Given the description of an element on the screen output the (x, y) to click on. 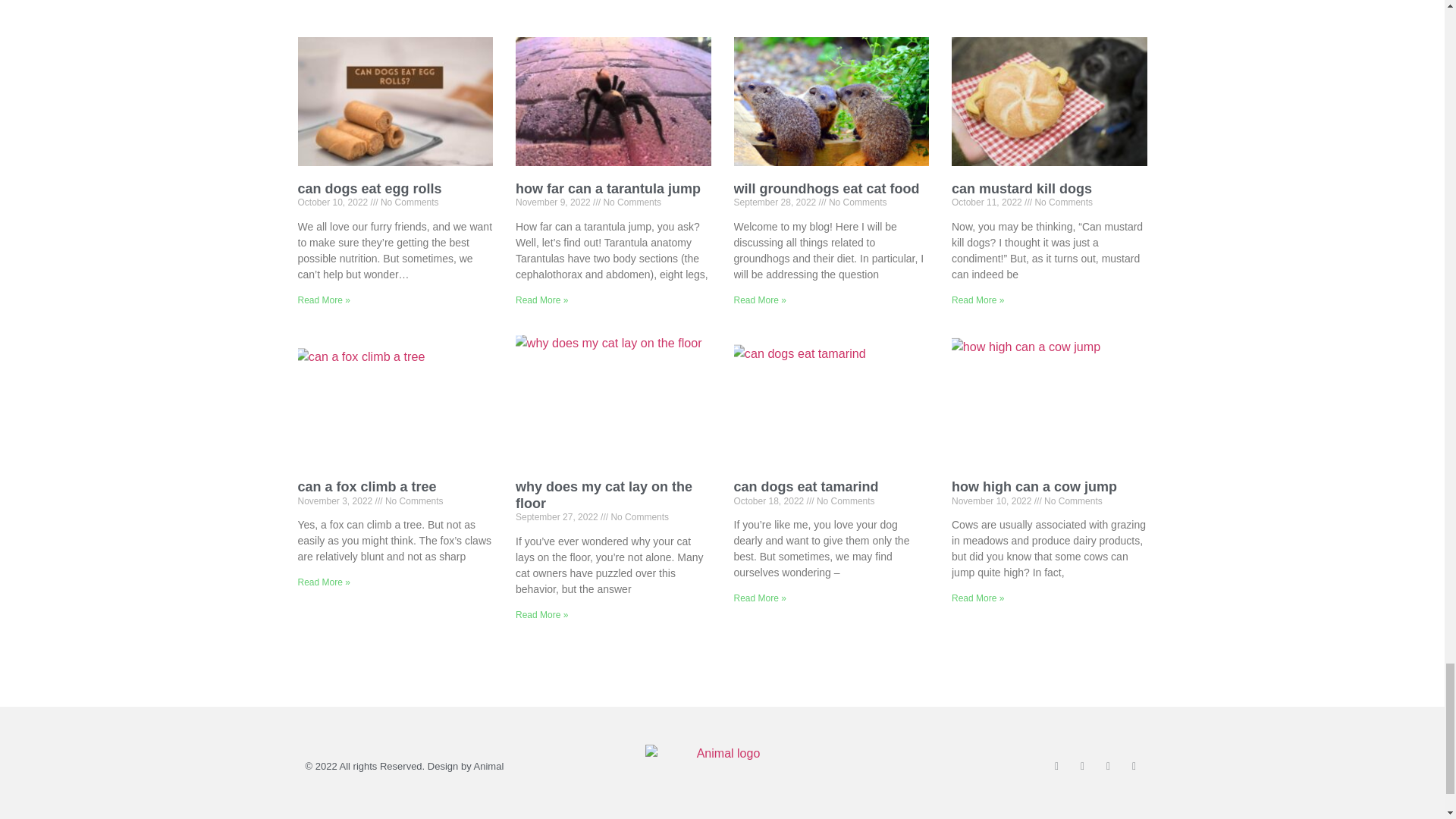
can mustard kill dogs (1022, 188)
why does my cat lay on the floor (604, 495)
can dogs eat tamarind (806, 486)
can a fox climb a tree (366, 486)
how far can a tarantula jump (607, 188)
will groundhogs eat cat food (826, 188)
can dogs eat egg rolls (369, 188)
how high can a cow jump (1034, 486)
